Given the description of an element on the screen output the (x, y) to click on. 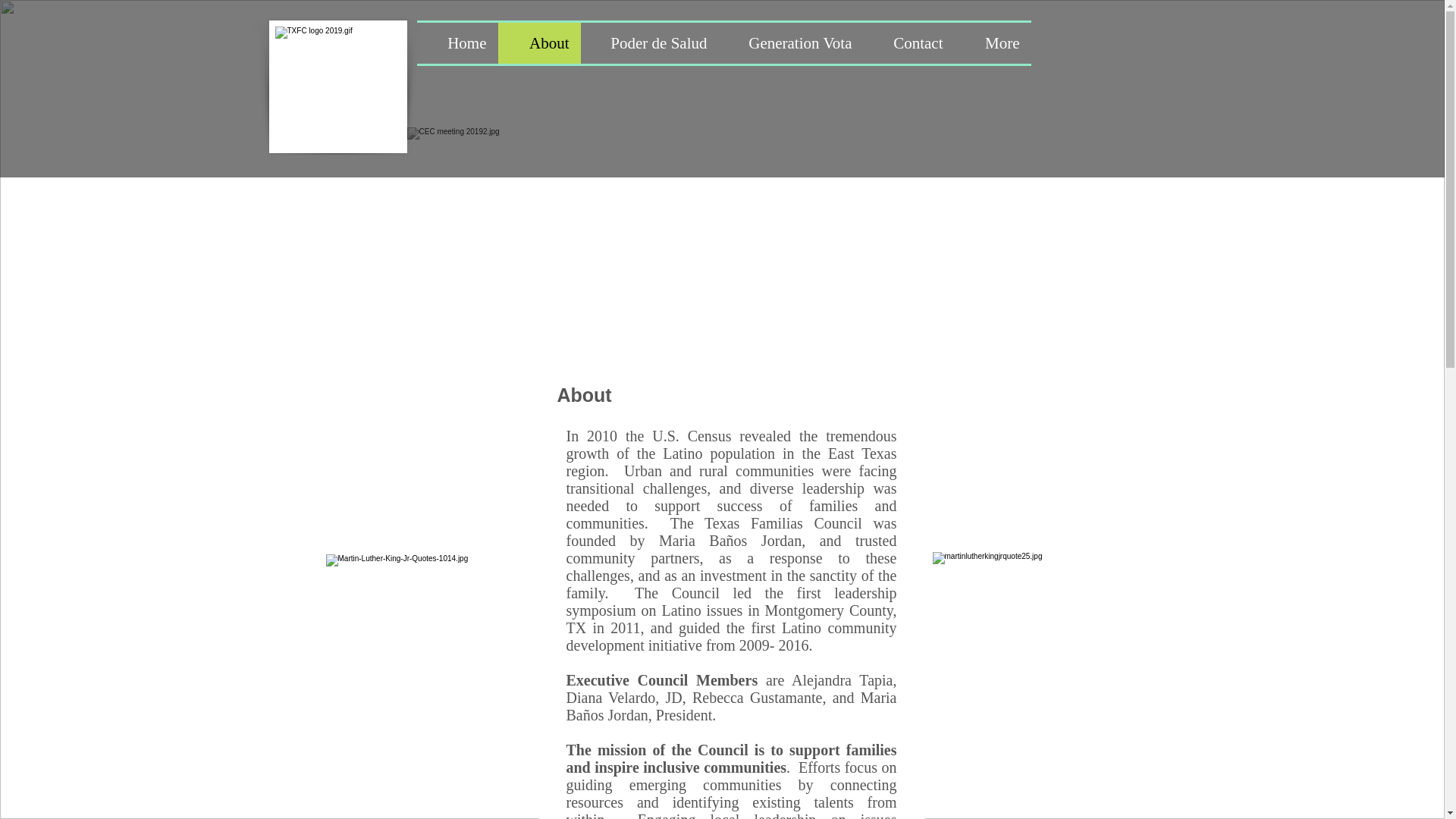
Home (456, 42)
About (538, 42)
Poder de Salud (649, 42)
Contact (908, 42)
Generation Vota (791, 42)
